Given the description of an element on the screen output the (x, y) to click on. 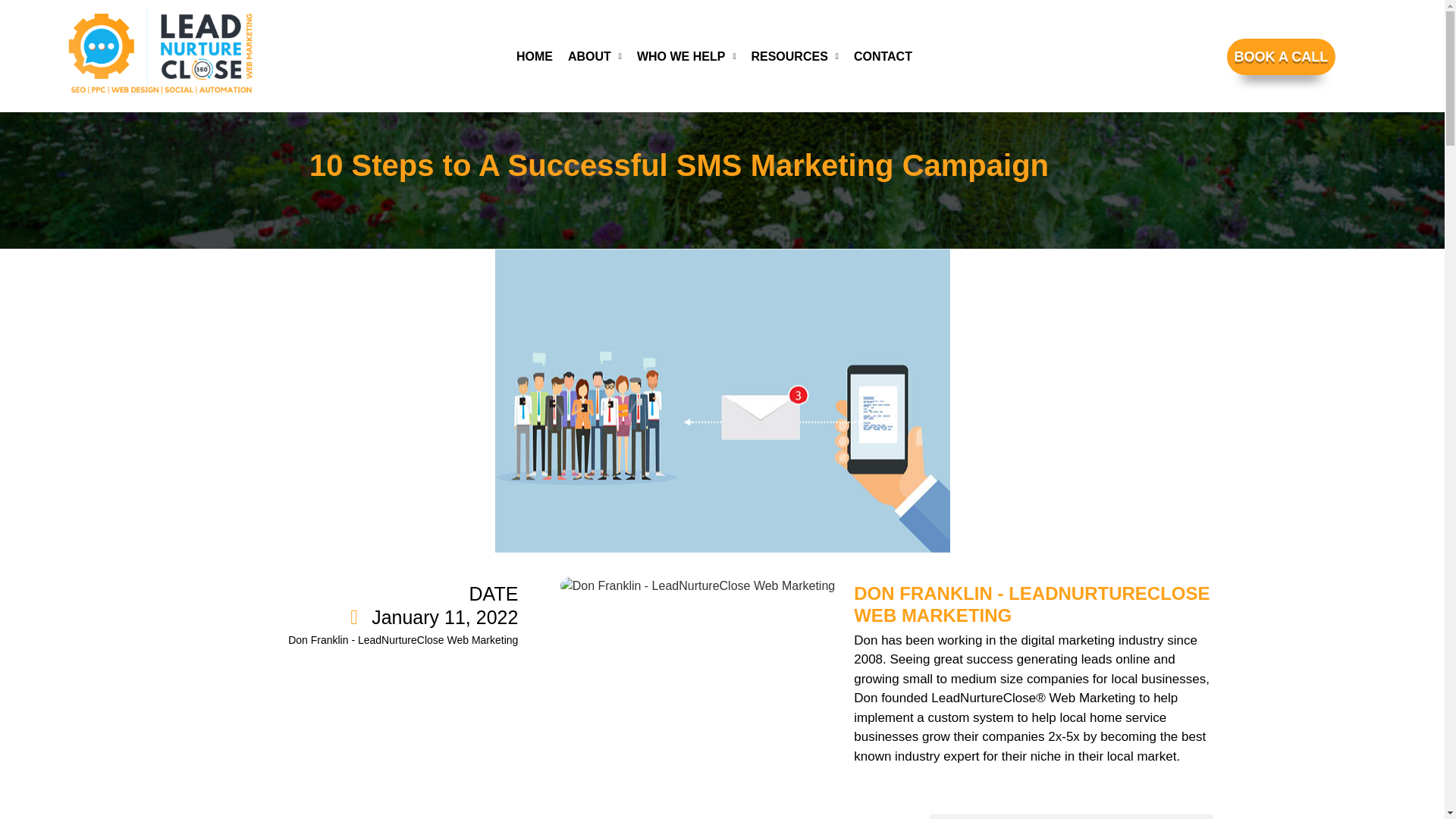
RESOURCES (793, 56)
LeadNurtureClose Web Marketing AgencyLogo (161, 50)
WHO WE HELP (686, 56)
CONTACT (882, 56)
ABOUT (595, 56)
HOME (534, 56)
